Given the description of an element on the screen output the (x, y) to click on. 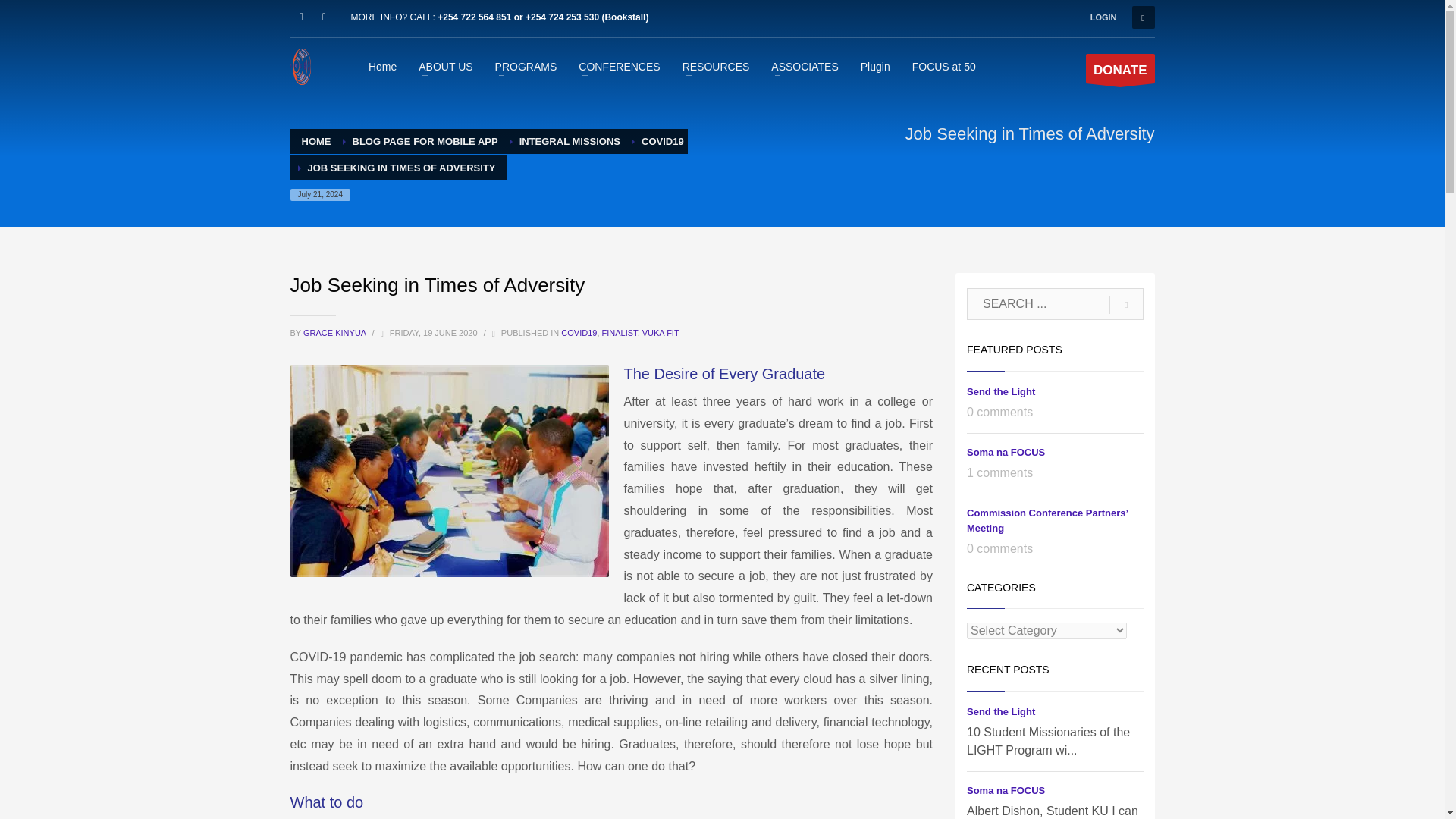
Blog Page for Mobile App (424, 141)
Soma na FOCUS (1005, 790)
Soma na FOCUS (1005, 451)
Twitter (323, 16)
Facebook (301, 16)
CONFERENCES (618, 66)
PROGRAMS (526, 66)
RESOURCES (715, 66)
LOGIN (1103, 17)
Send the Light (1000, 391)
Send the Light (1000, 711)
Home (382, 66)
Fresh-graduates (448, 470)
ABOUT US (445, 66)
